Given the description of an element on the screen output the (x, y) to click on. 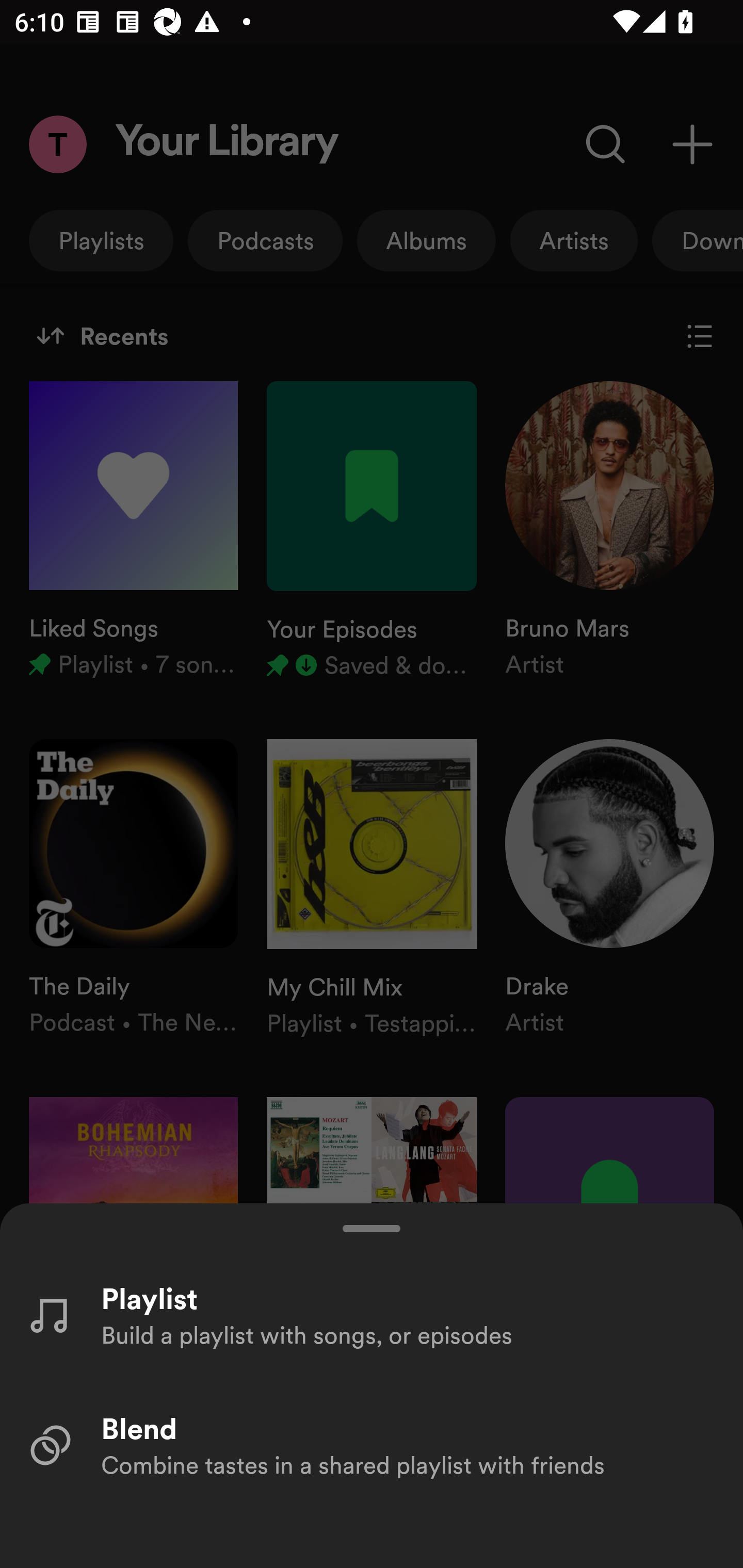
Playlist Build a playlist with songs, or episodes (371, 1314)
